Given the description of an element on the screen output the (x, y) to click on. 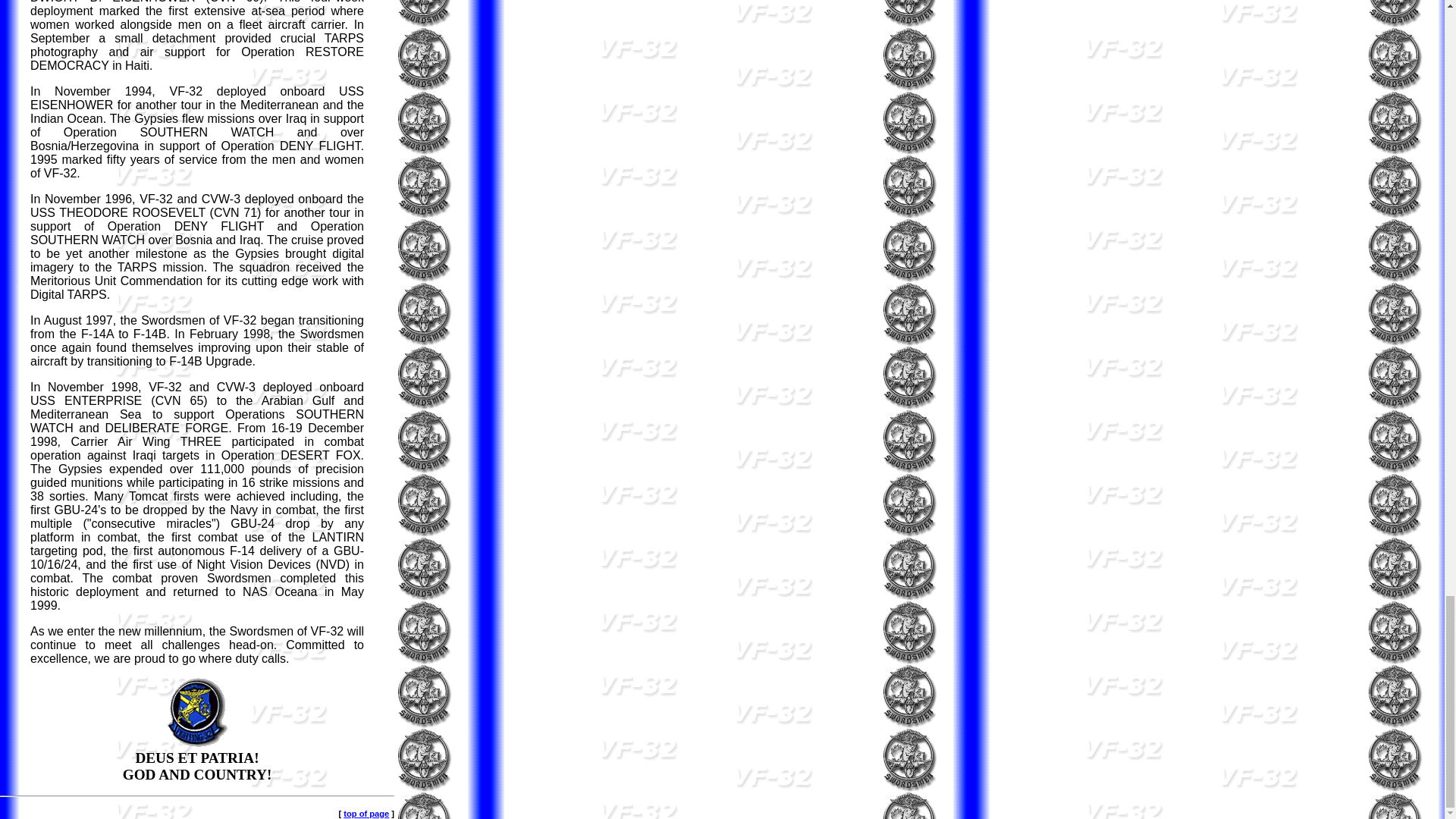
top of page (365, 813)
